Given the description of an element on the screen output the (x, y) to click on. 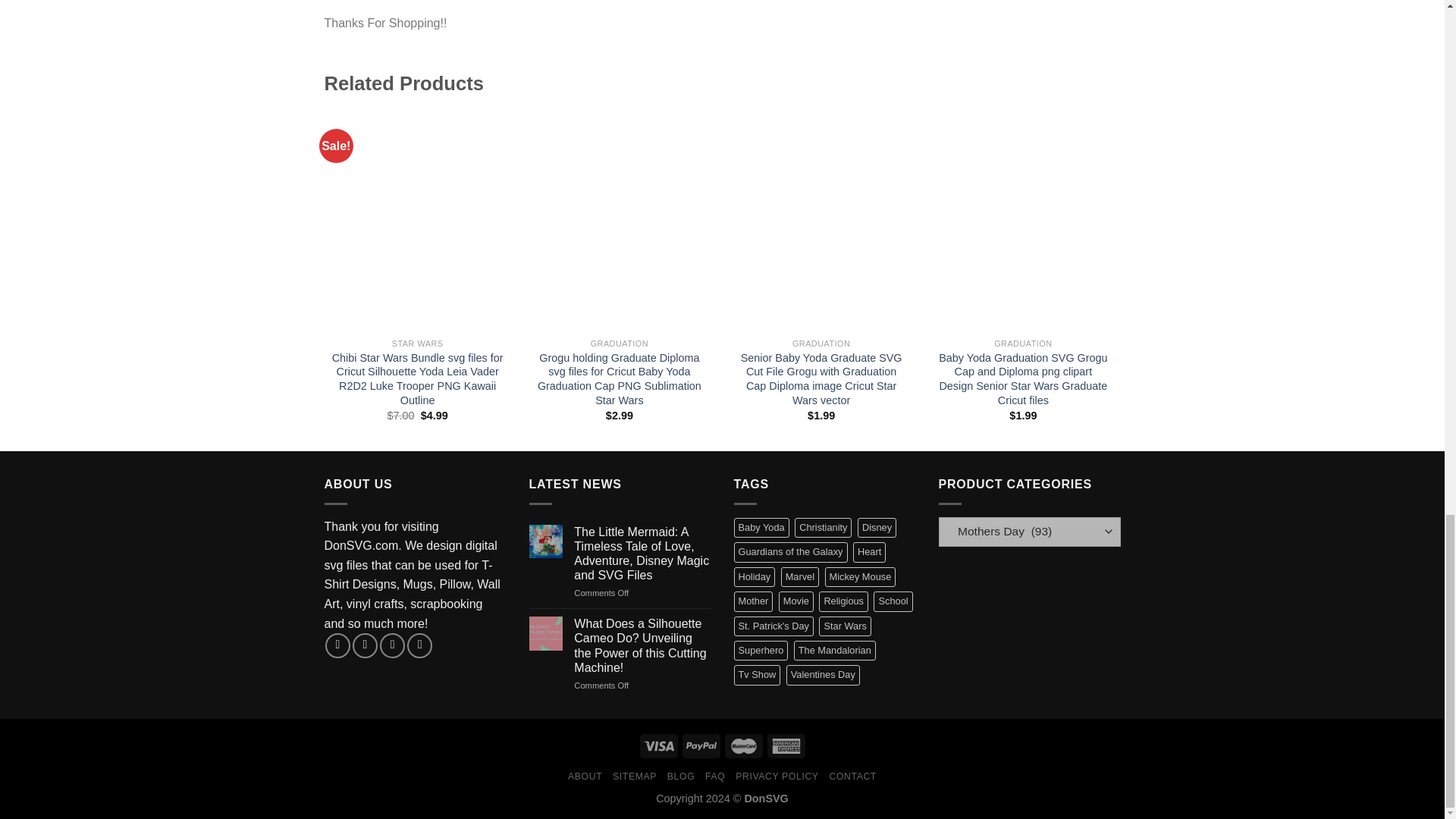
Follow on Facebook (337, 645)
Follow on Twitter (364, 645)
Send us an email (392, 645)
